Given the description of an element on the screen output the (x, y) to click on. 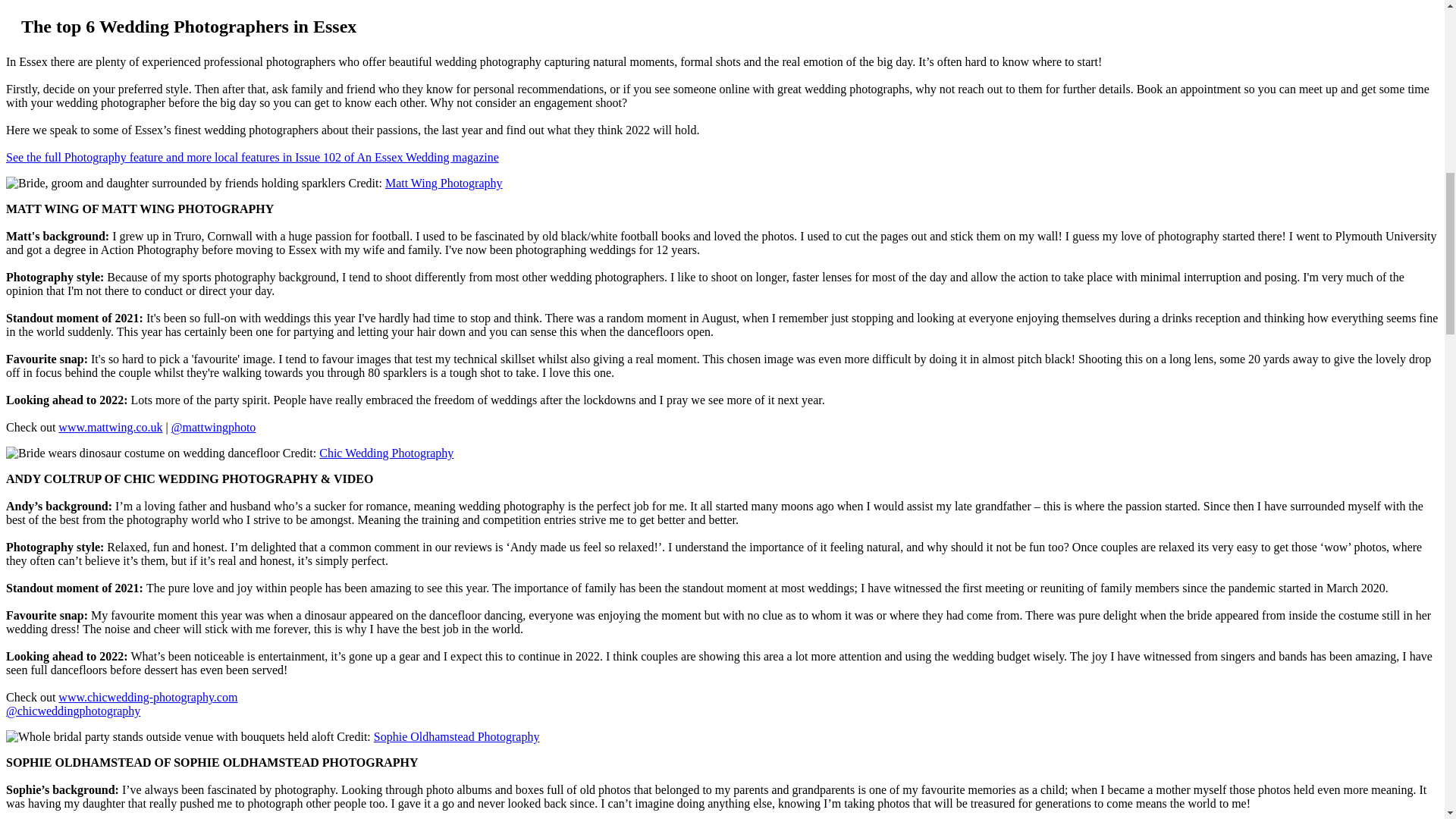
Sophie Oldhamstead Photography (457, 736)
www.chicwedding-photography.com (147, 697)
Matt Wing Photography (443, 182)
Chic Wedding Photography (385, 452)
www.mattwing.co.uk (109, 427)
